Given the description of an element on the screen output the (x, y) to click on. 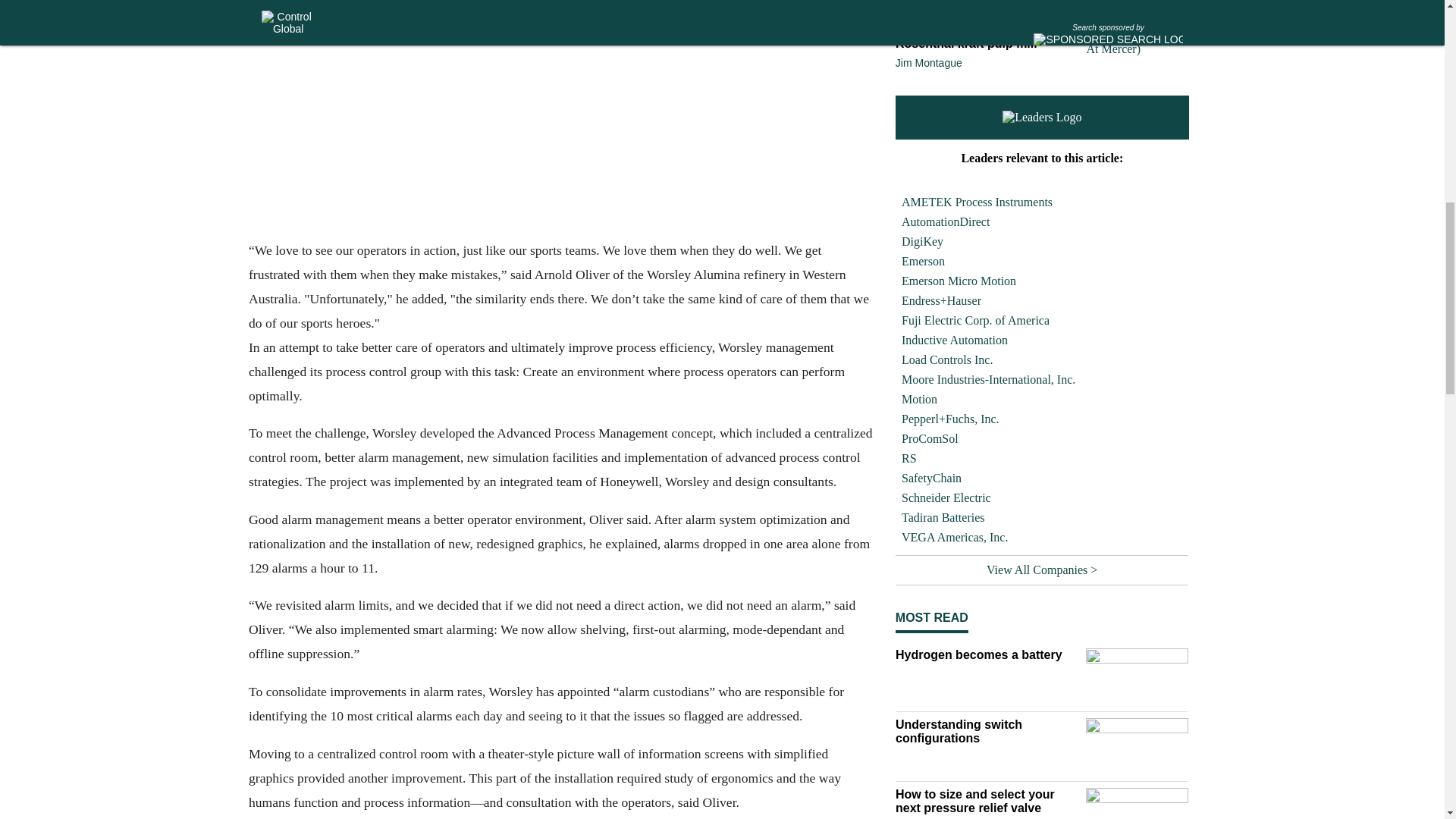
AMETEK Process Instruments (1042, 202)
AutomationDirect (1042, 221)
Industry News (986, 13)
Jim Montague (928, 62)
Valmet to optimize Mercer Rosenthal kraft pulp mill (986, 36)
